Given the description of an element on the screen output the (x, y) to click on. 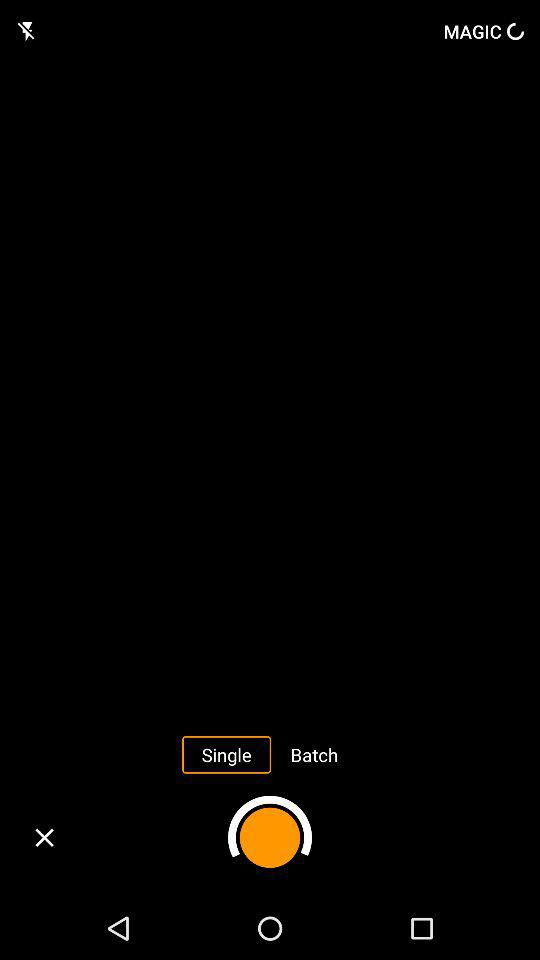
press the icon next to single (314, 754)
